Given the description of an element on the screen output the (x, y) to click on. 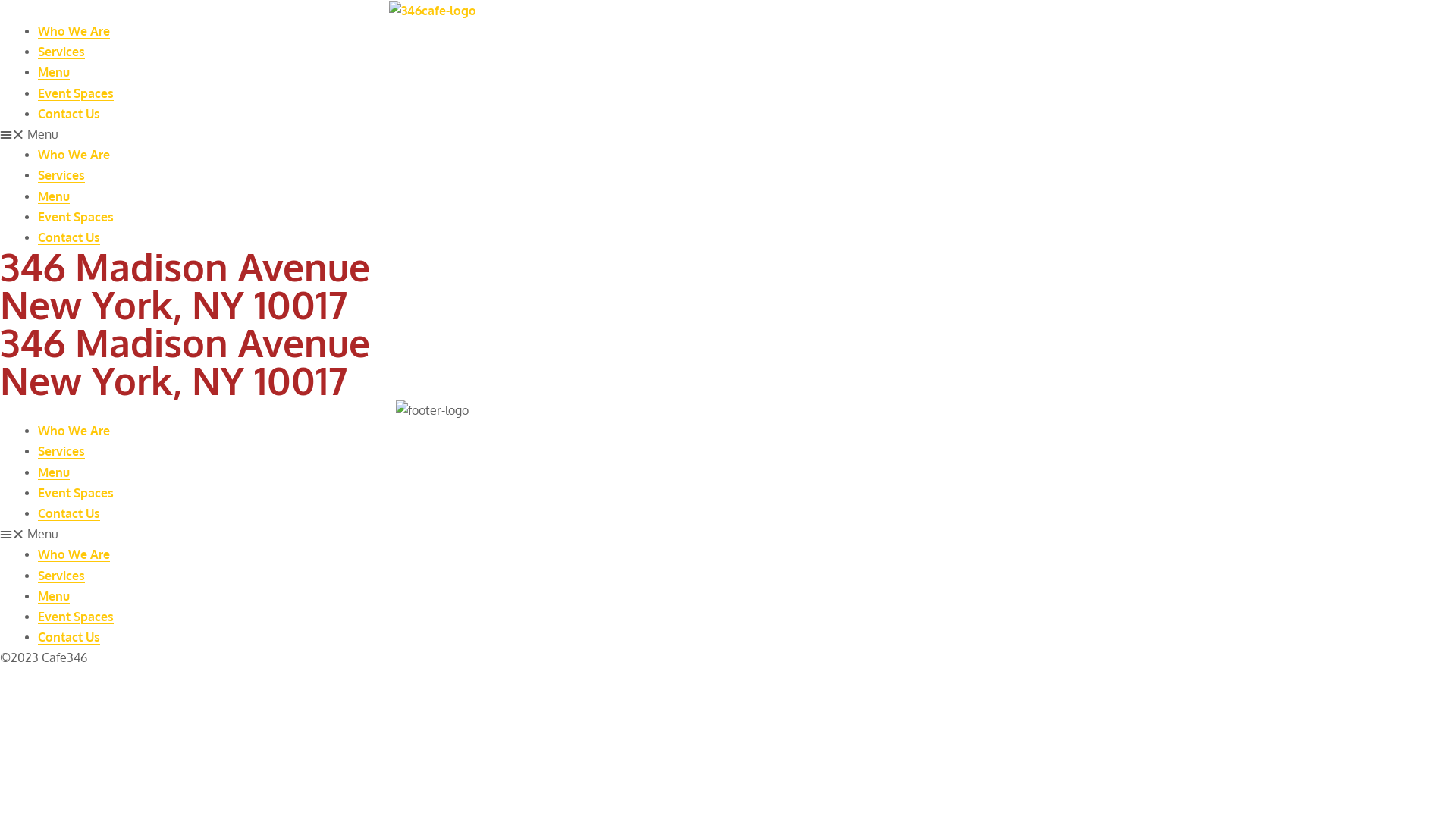
Services Element type: text (60, 575)
Who We Are Element type: text (73, 30)
Menu Element type: text (53, 71)
Contact Us Element type: text (68, 512)
Services Element type: text (60, 174)
Contact Us Element type: text (68, 636)
Event Spaces Element type: text (75, 92)
Contact Us Element type: text (68, 113)
Menu Element type: text (53, 595)
Who We Are Element type: text (73, 430)
Menu Element type: text (53, 195)
Event Spaces Element type: text (75, 616)
Contact Us Element type: text (68, 236)
Services Element type: text (60, 51)
Services Element type: text (60, 450)
Event Spaces Element type: text (75, 216)
footer-logo Element type: hover (431, 410)
Who We Are Element type: text (73, 553)
Menu Element type: text (53, 472)
Event Spaces Element type: text (75, 492)
Who We Are Element type: text (73, 154)
346cafe-logo Element type: hover (431, 10)
